Given the description of an element on the screen output the (x, y) to click on. 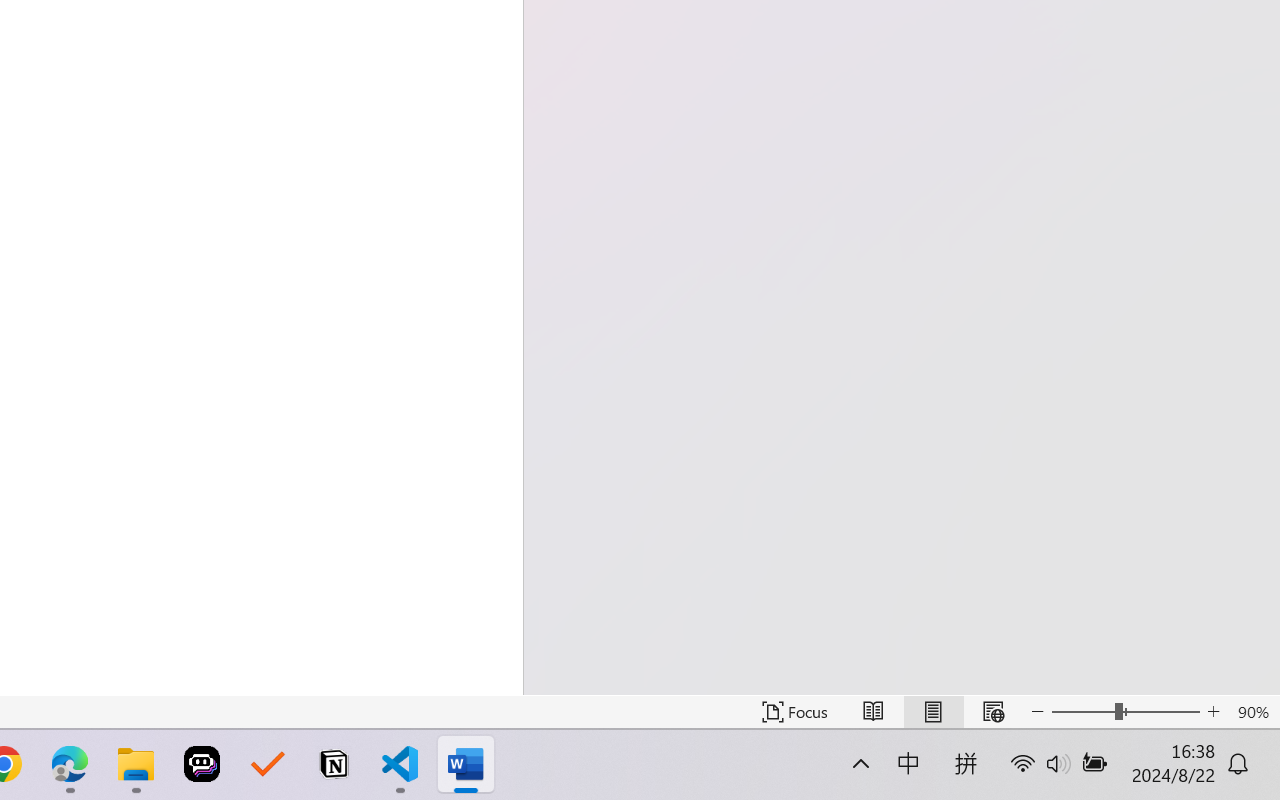
Zoom 90% (1253, 712)
